Given the description of an element on the screen output the (x, y) to click on. 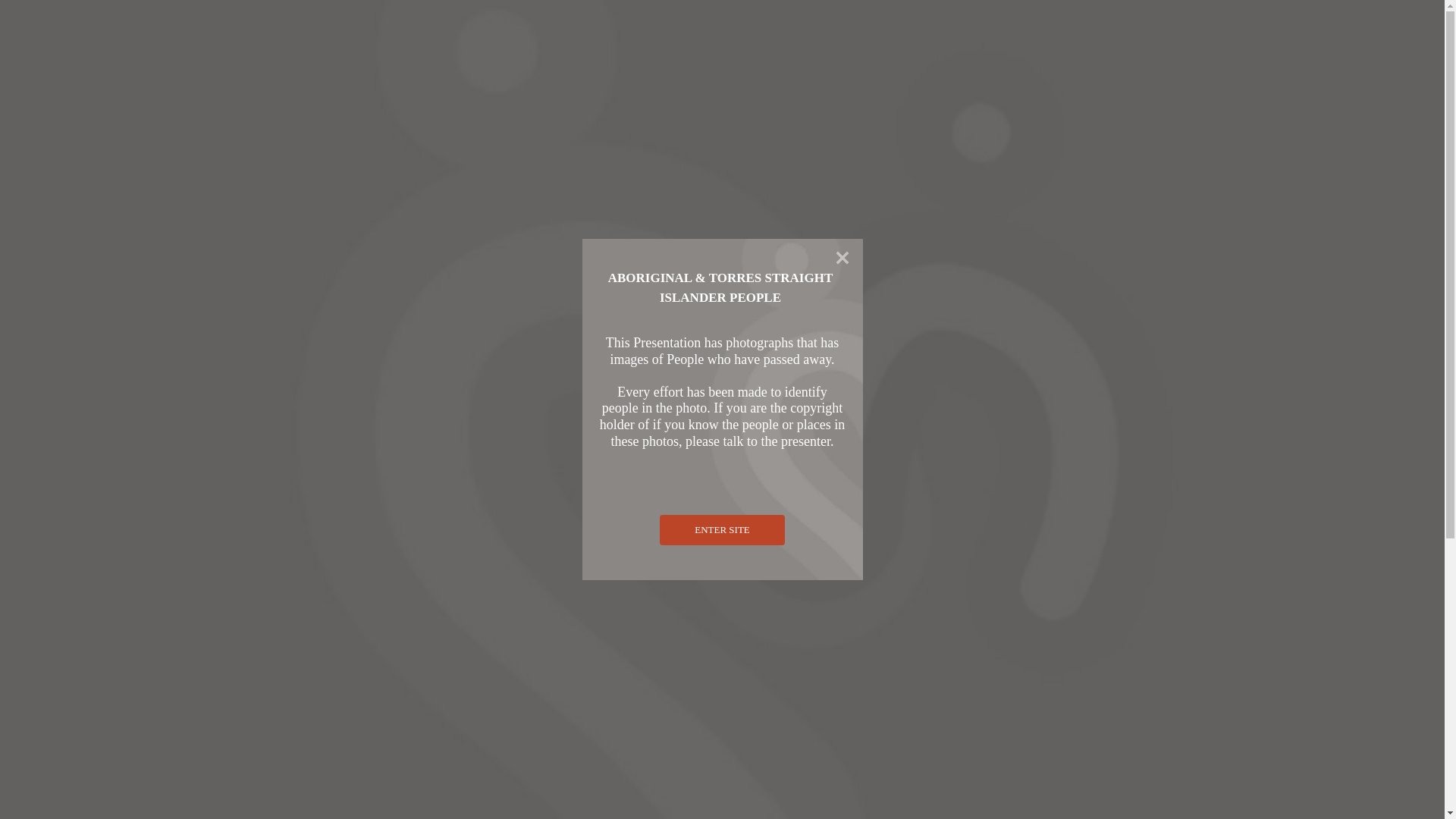
Contact Element type: text (55, 198)
Partner Element type: text (83, 184)
Objectives Element type: text (92, 157)
Blog Element type: text (47, 212)
Continue Reading ... Element type: text (56, 793)
About Element type: text (51, 116)
People Element type: text (52, 728)
About Element type: text (81, 130)
ENTER SITE Element type: text (721, 529)
Vision and Approach Element type: text (117, 144)
Work together Element type: text (71, 171)
Home Element type: text (50, 103)
